Given the description of an element on the screen output the (x, y) to click on. 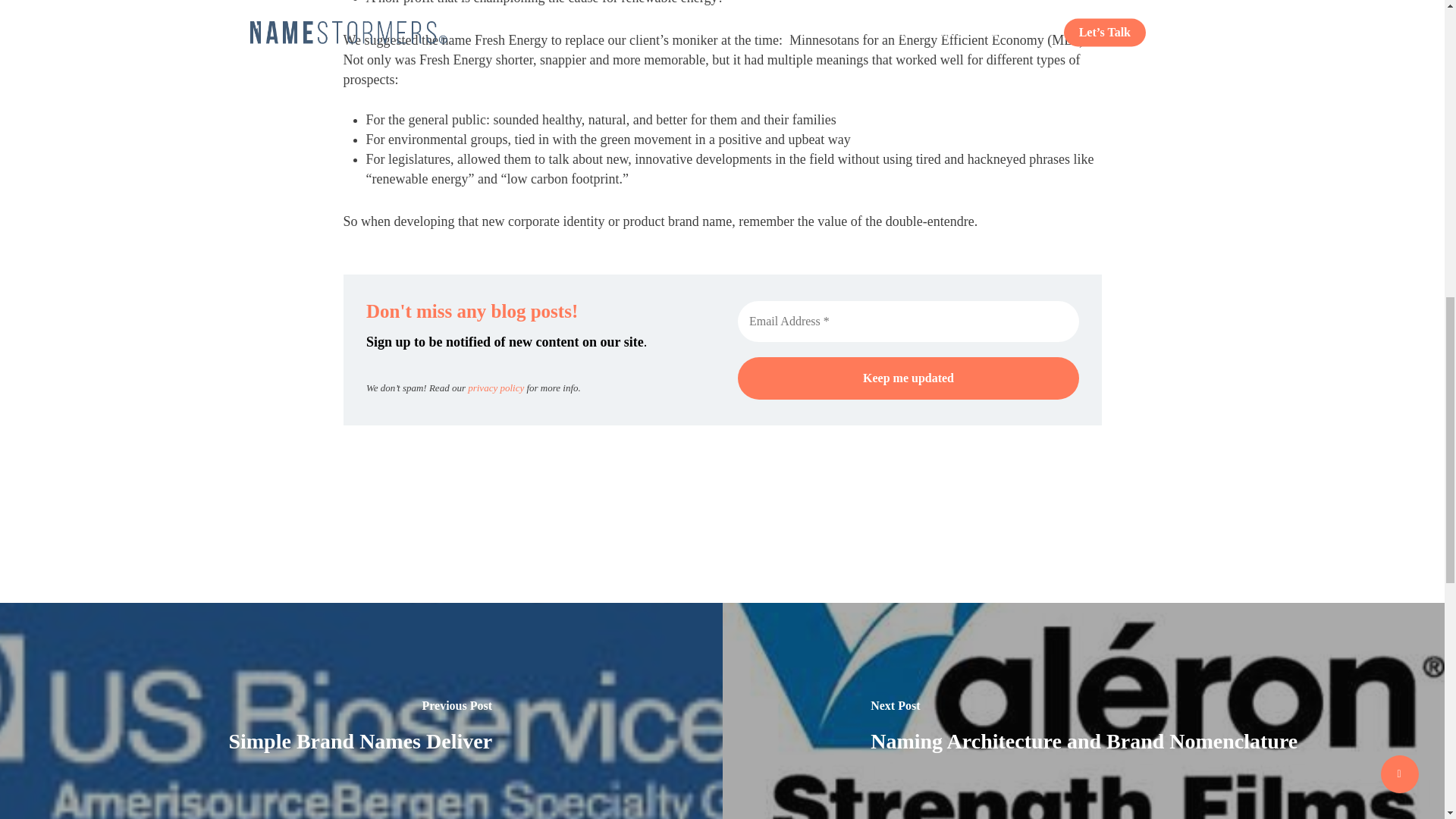
privacy policy (496, 387)
Email Address (907, 320)
Keep me updated (907, 377)
Keep me updated (907, 377)
